Given the description of an element on the screen output the (x, y) to click on. 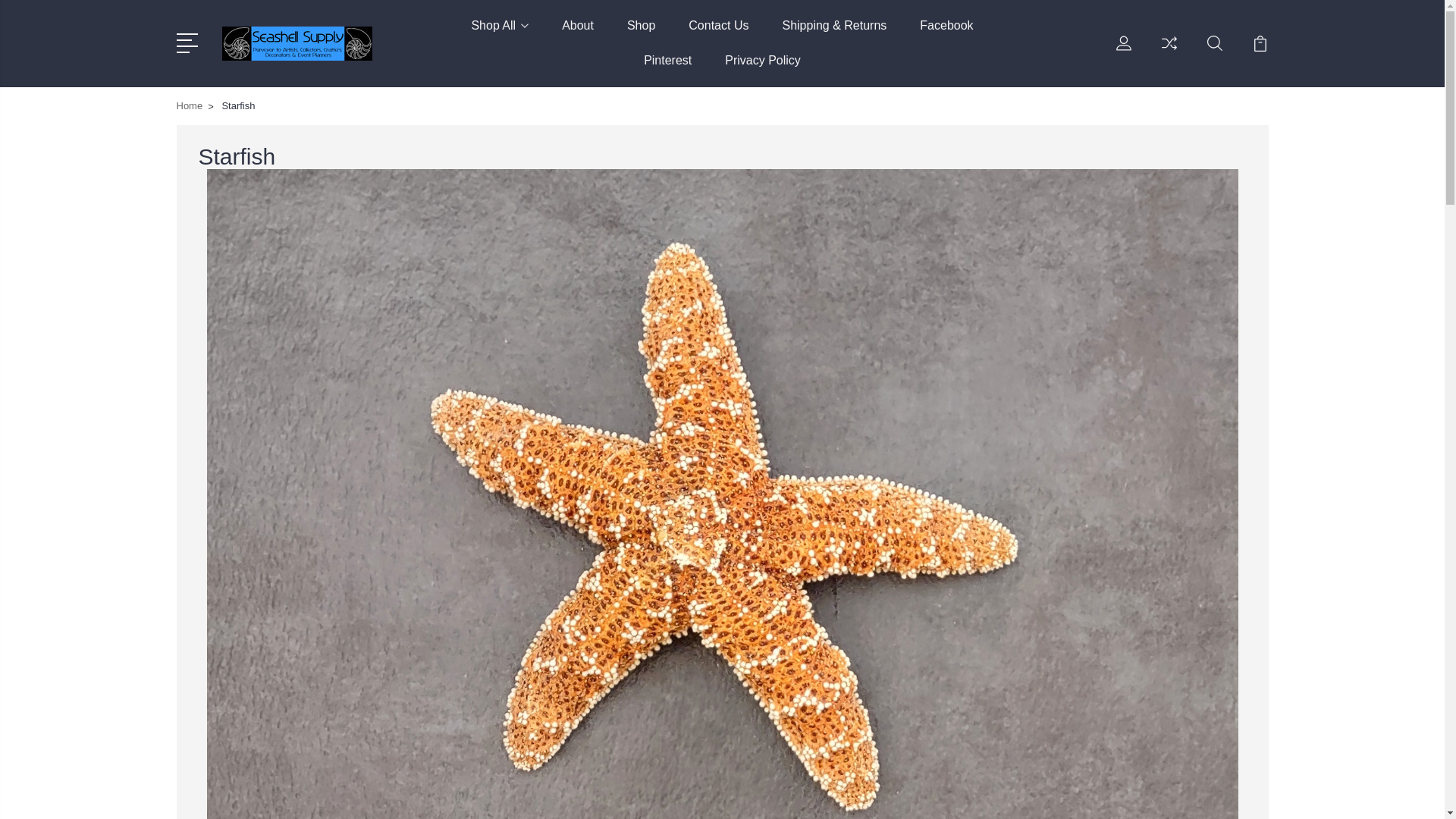
Contact Us (718, 34)
Sea Shell Supply (296, 43)
About (578, 34)
Facebook (946, 34)
Shop All (499, 34)
